Given the description of an element on the screen output the (x, y) to click on. 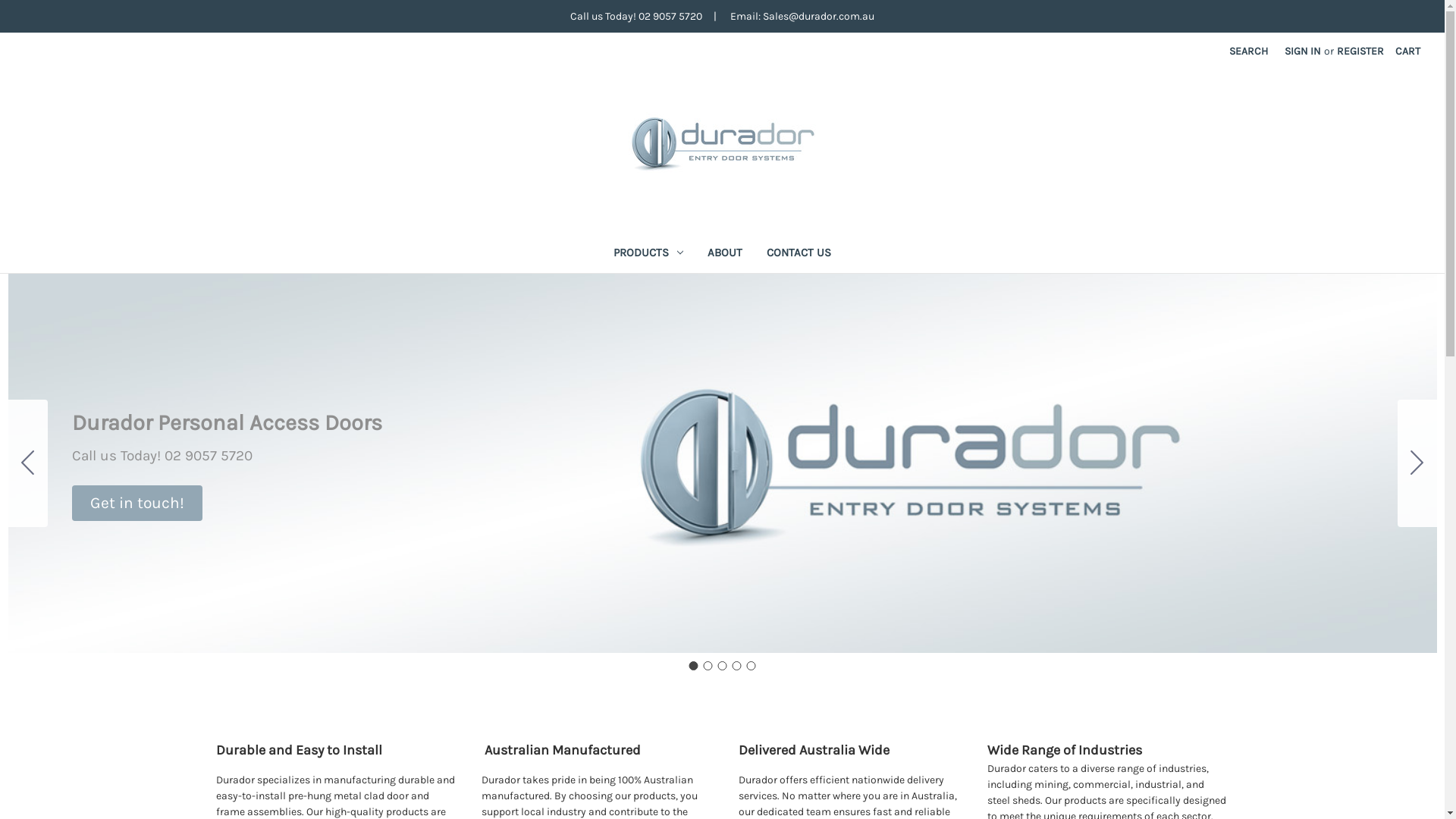
CART Element type: text (1407, 50)
REGISTER Element type: text (1360, 50)
SEARCH Element type: text (1248, 50)
CONTACT US Element type: text (798, 254)
ABOUT Element type: text (724, 254)
SIGN IN Element type: text (1302, 50)
Durador Element type: hover (722, 142)
PRODUCTS Element type: text (648, 254)
